Given the description of an element on the screen output the (x, y) to click on. 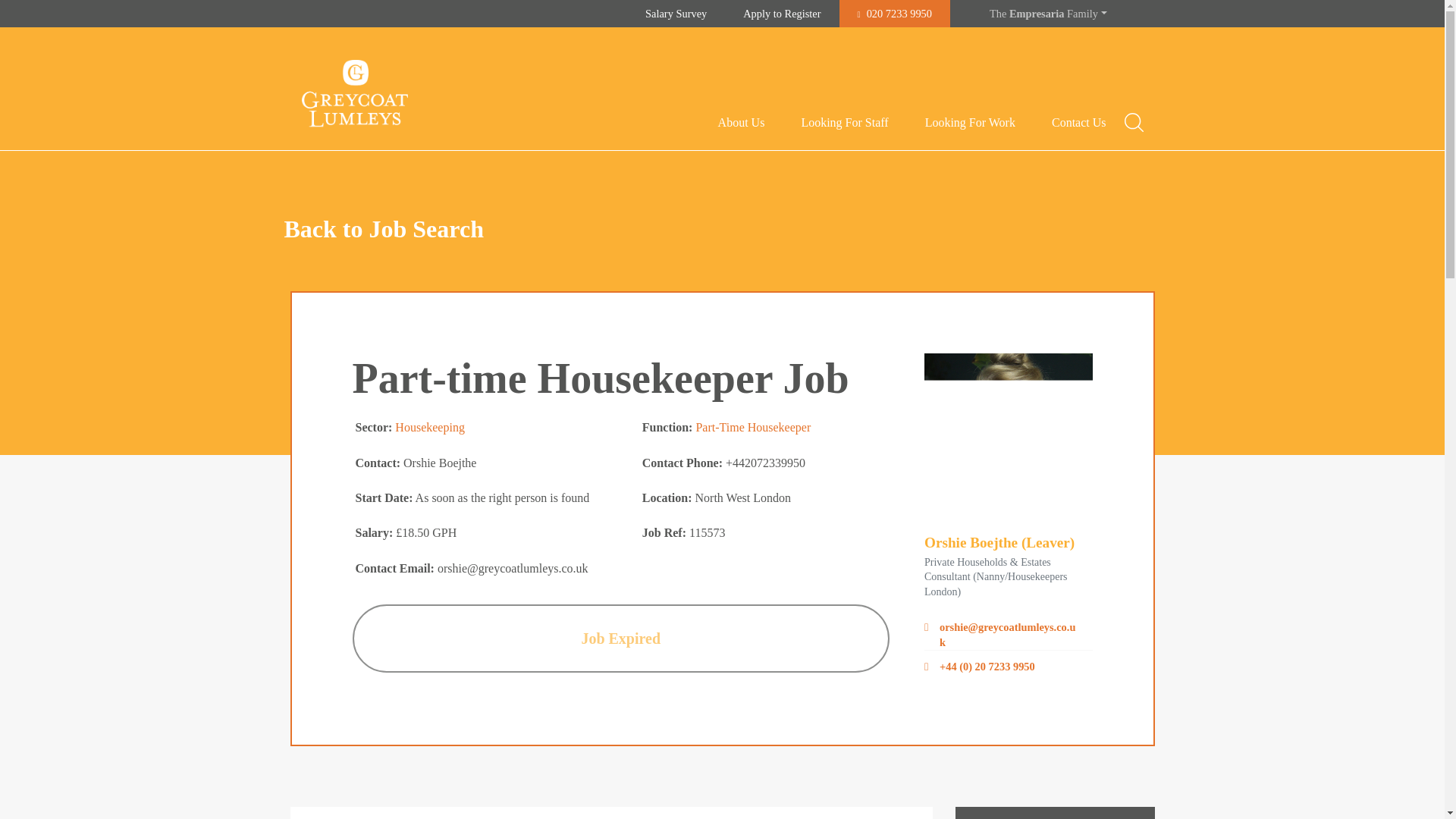
Apply to Register (781, 13)
Part-Time Housekeeper (752, 427)
Housekeeping (429, 427)
020 7233 9950 (895, 13)
Contact Us (1078, 122)
Looking For Work (969, 122)
Job Expired (620, 638)
Back to Job Search (383, 228)
Salary Survey (676, 13)
The Empresaria Family (1047, 13)
